Given the description of an element on the screen output the (x, y) to click on. 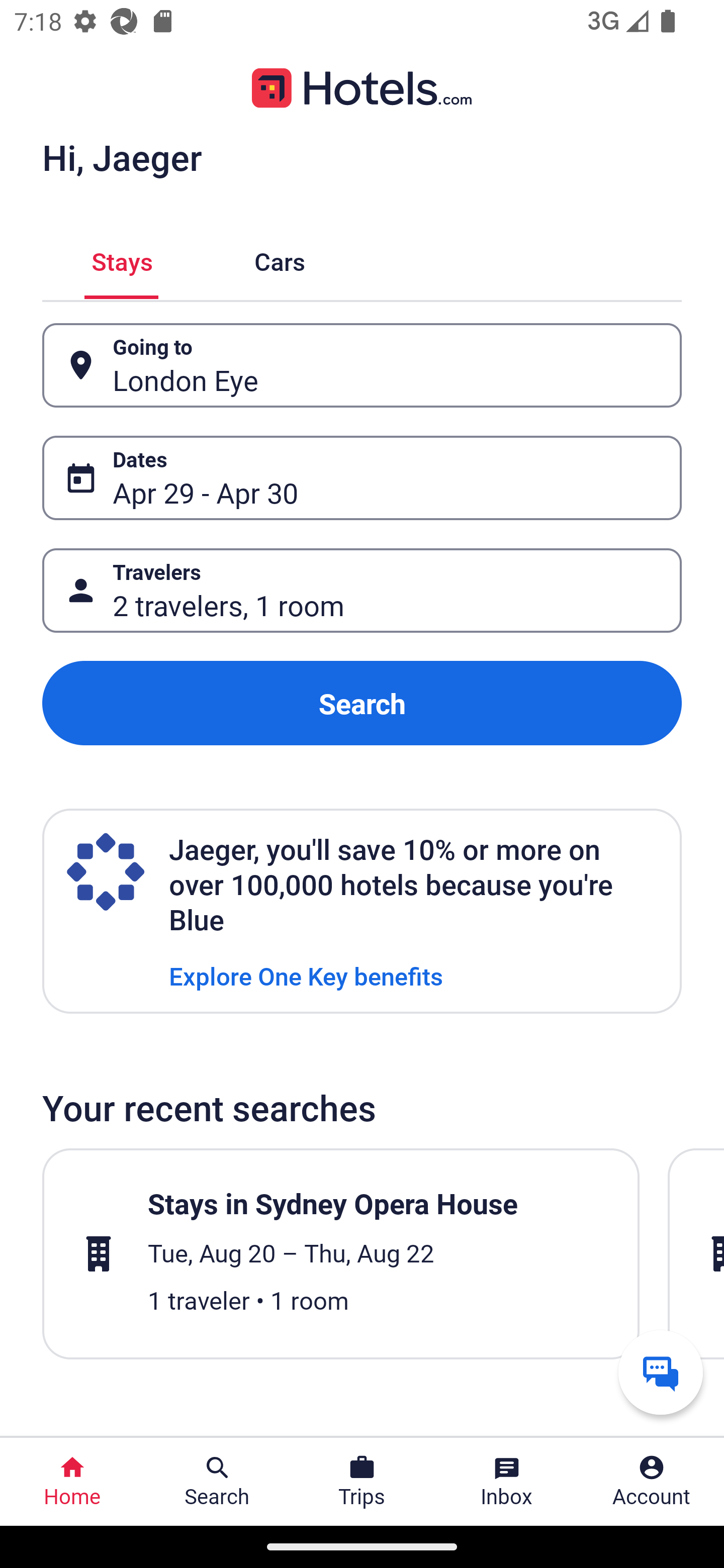
Hi, Jaeger (121, 156)
Cars (279, 259)
Going to Button London Eye (361, 365)
Dates Button Apr 29 - Apr 30 (361, 477)
Travelers Button 2 travelers, 1 room (361, 590)
Search (361, 702)
Get help from a virtual agent (660, 1371)
Search Search Button (216, 1481)
Trips Trips Button (361, 1481)
Inbox Inbox Button (506, 1481)
Account Profile. Button (651, 1481)
